Given the description of an element on the screen output the (x, y) to click on. 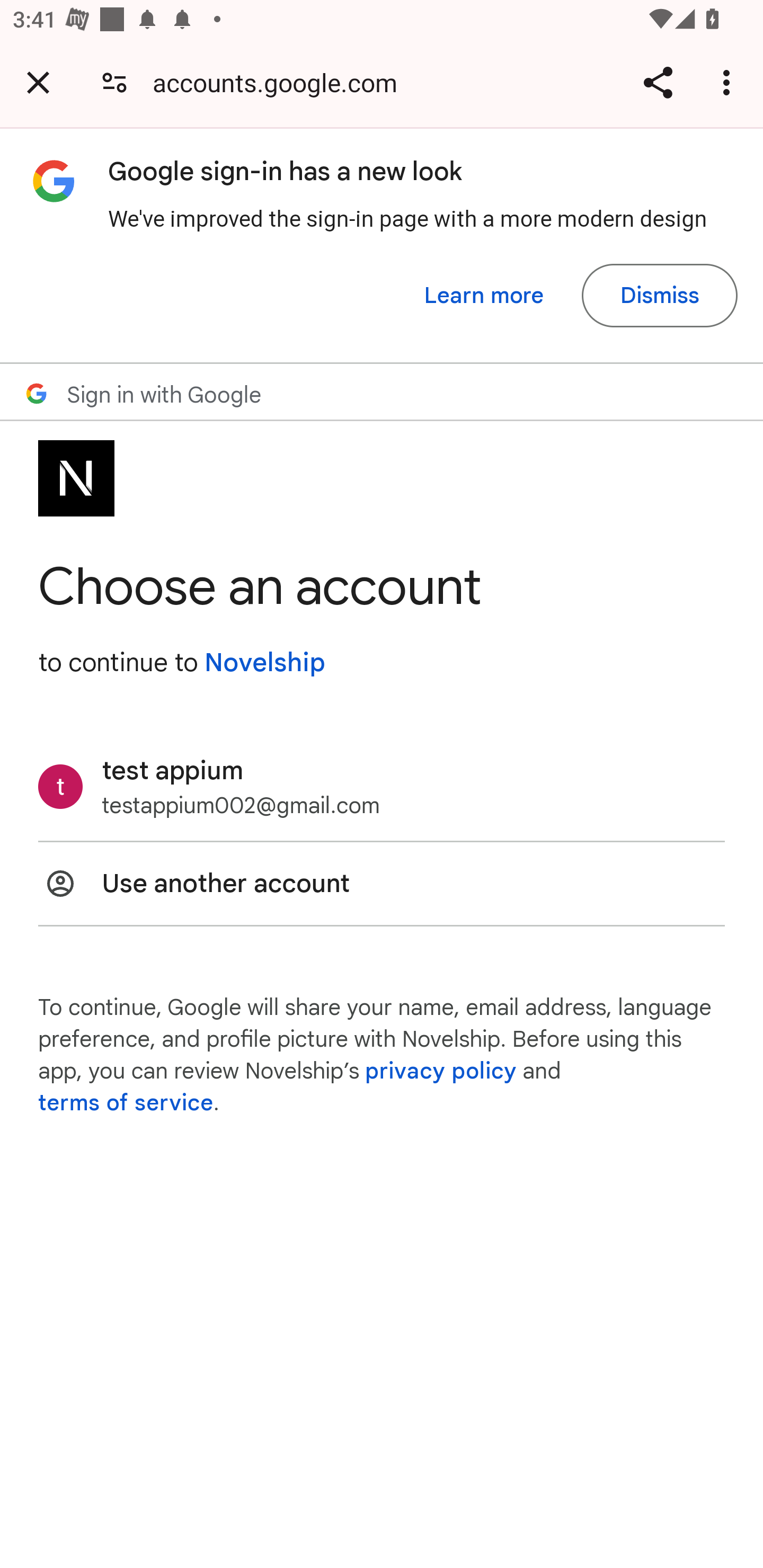
Close tab (38, 82)
Share (657, 82)
Customize and control Google Chrome (729, 82)
Connection is secure (114, 81)
accounts.google.com (281, 81)
Learn more (483, 295)
Dismiss (659, 295)
Novelship (264, 662)
Use another account (381, 883)
privacy policy (440, 1070)
terms of service (126, 1102)
